Given the description of an element on the screen output the (x, y) to click on. 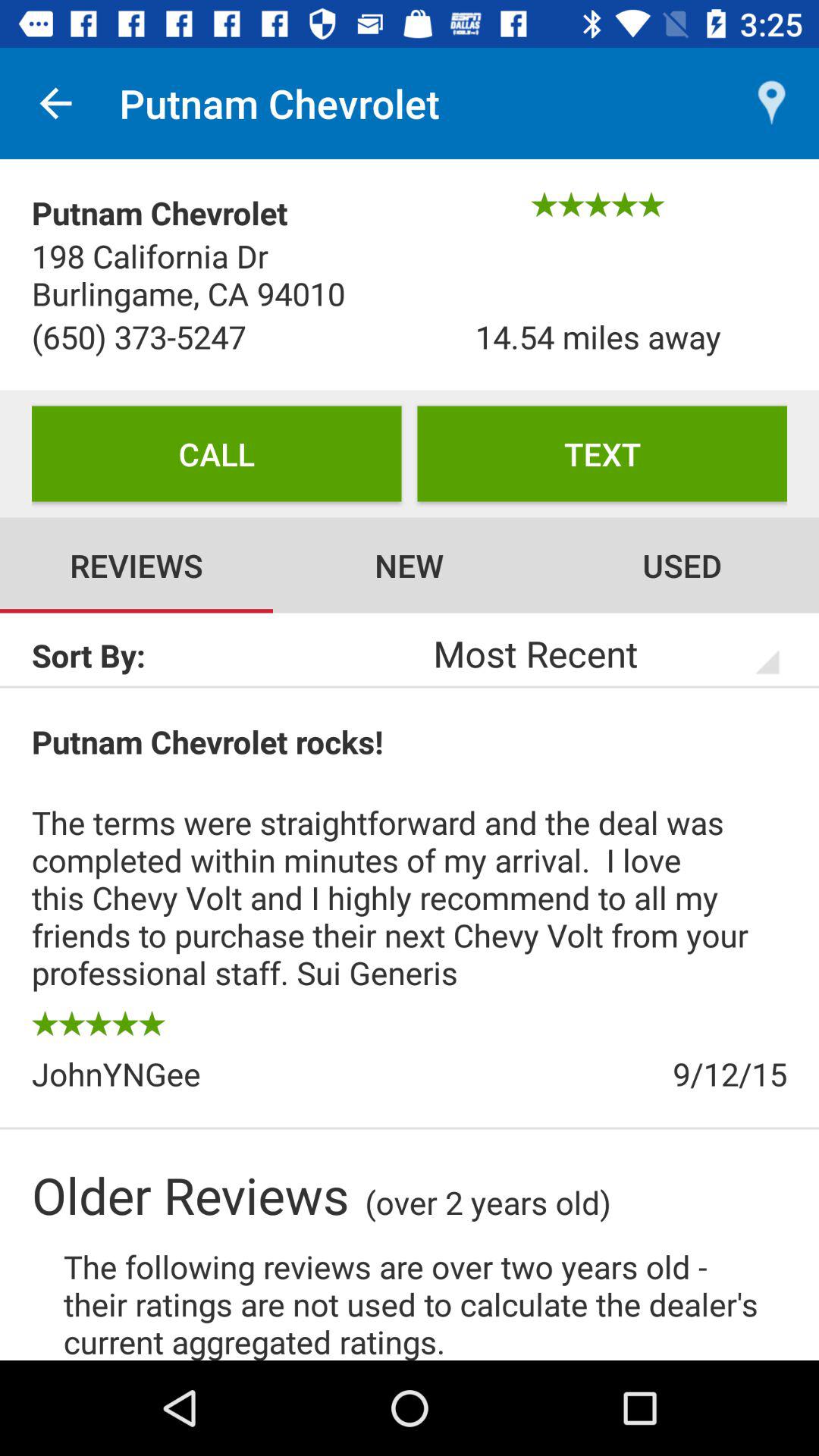
open the icon below reviews (220, 654)
